Given the description of an element on the screen output the (x, y) to click on. 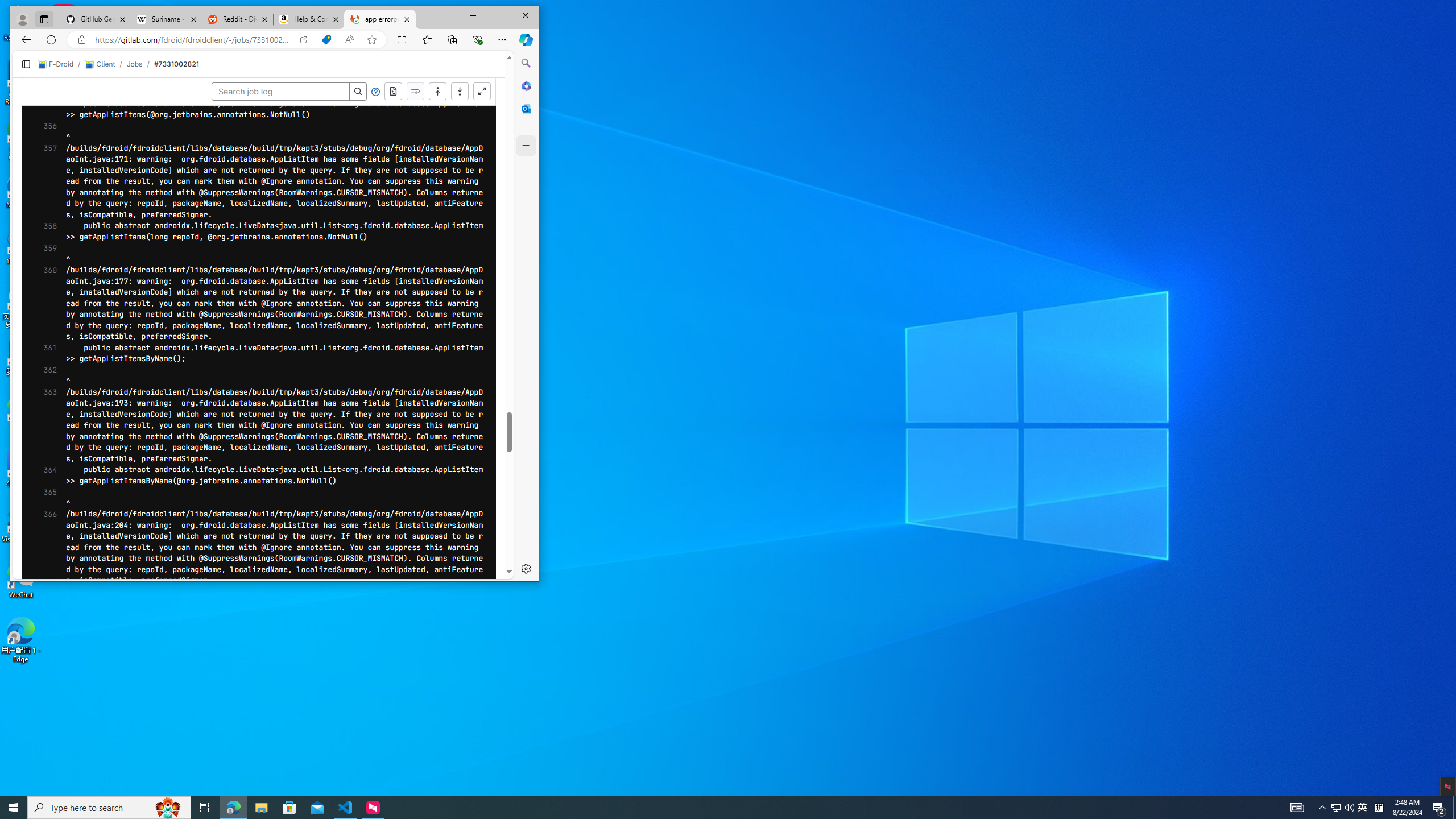
Start (13, 807)
405 (41, 200)
410 (41, 255)
411 (41, 266)
Client/ (229, 54)
403 (41, 177)
398 (41, 122)
393 (41, 67)
